Given the description of an element on the screen output the (x, y) to click on. 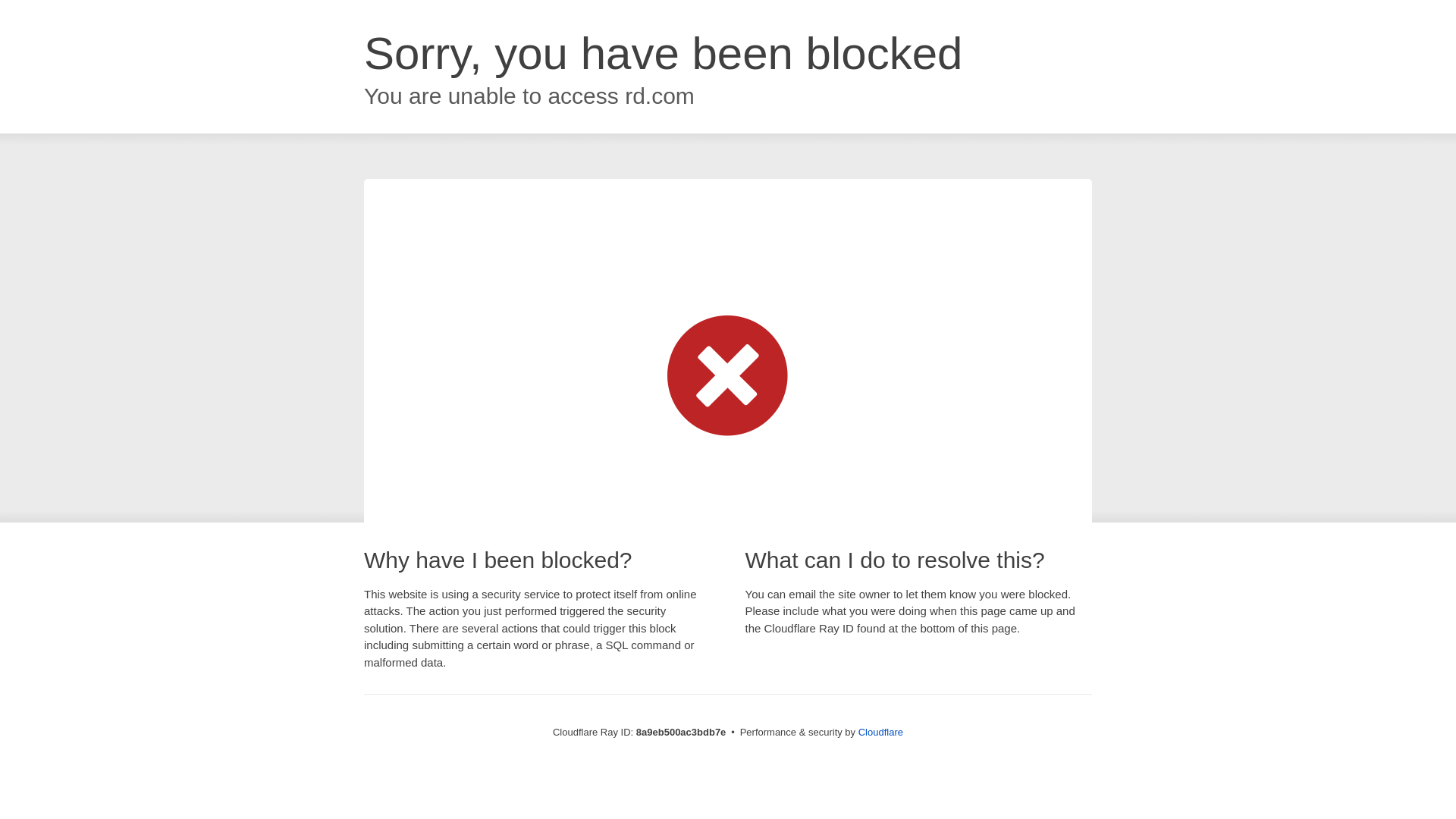
Cloudflare (880, 731)
